Given the description of an element on the screen output the (x, y) to click on. 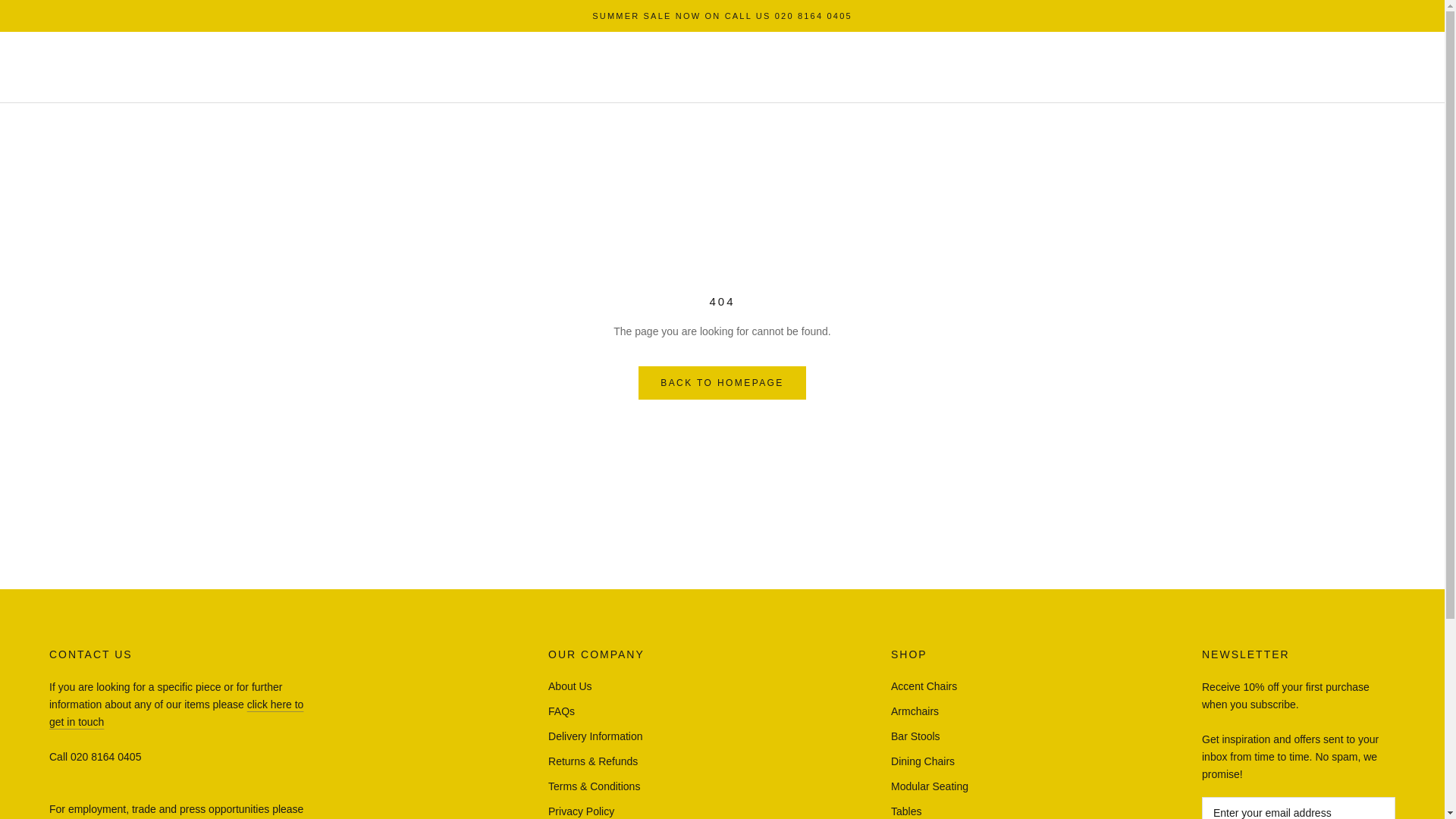
SUMMER SALE NOW ON CALL US 020 8164 0405 (721, 15)
Contact (175, 713)
